Given the description of an element on the screen output the (x, y) to click on. 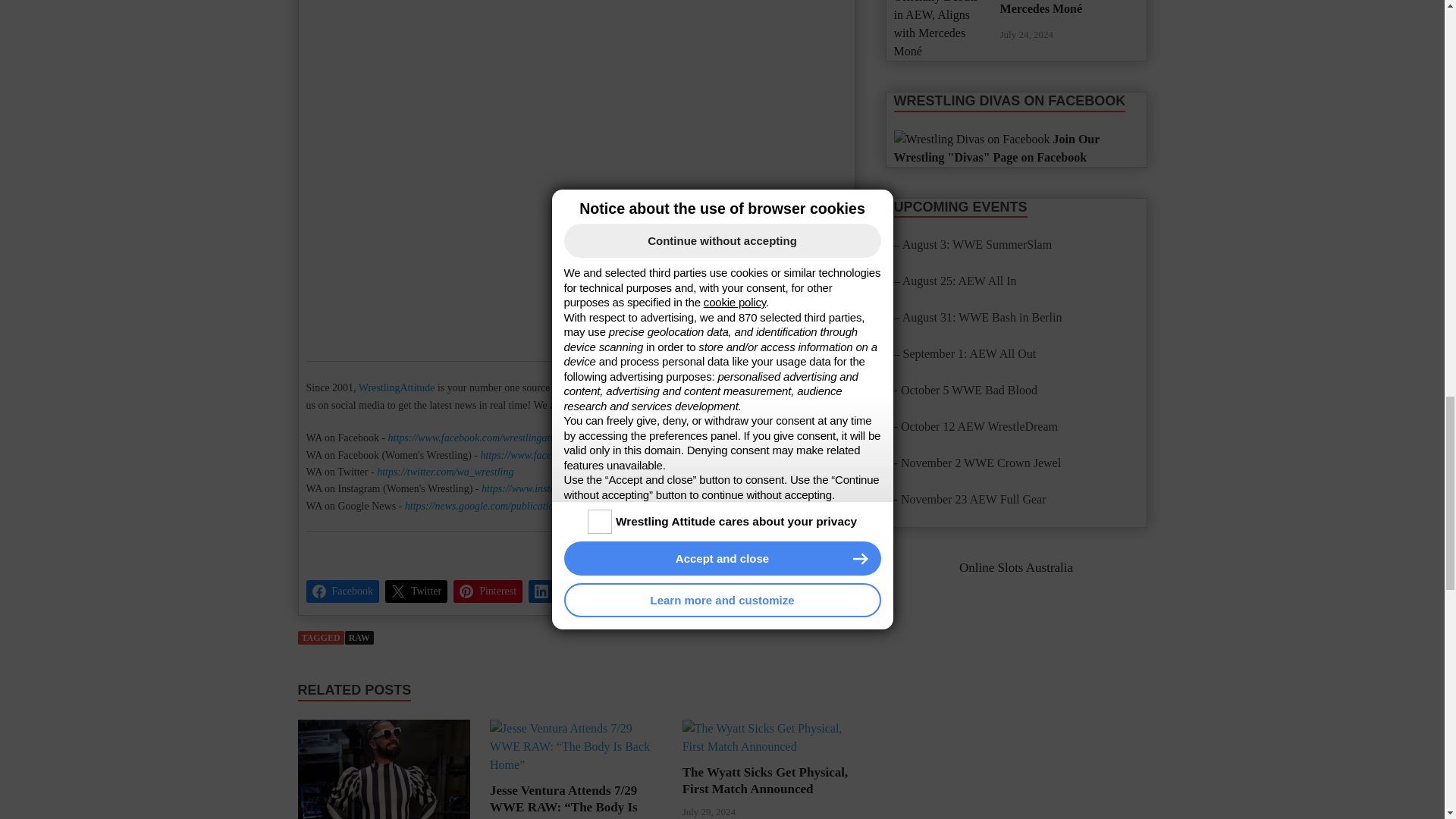
Seth Rollins Comments on His Referee Attire (383, 769)
The Wyatt Sicks Get Physical, First Match Announced (769, 746)
The Wyatt Sicks Get Physical, First Match Announced (765, 780)
The Wyatt Sicks Get Physical, First Match Announced (769, 737)
